Given the description of an element on the screen output the (x, y) to click on. 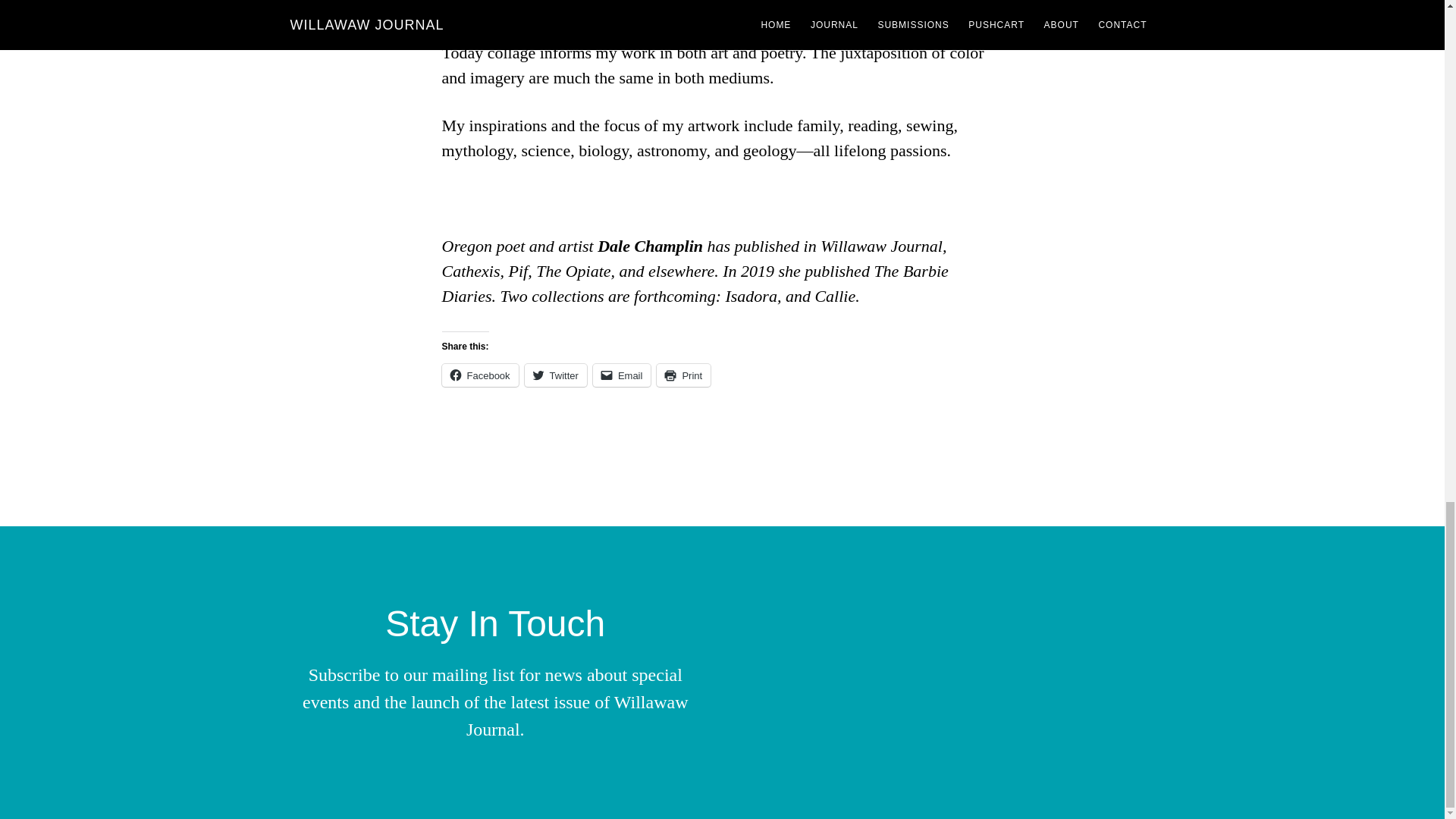
Print (683, 374)
Email (621, 374)
Click to email a link to a friend (621, 374)
Click to print (683, 374)
Facebook (479, 374)
Click to share on Facebook (479, 374)
Twitter (555, 374)
Click to share on Twitter (555, 374)
